Given the description of an element on the screen output the (x, y) to click on. 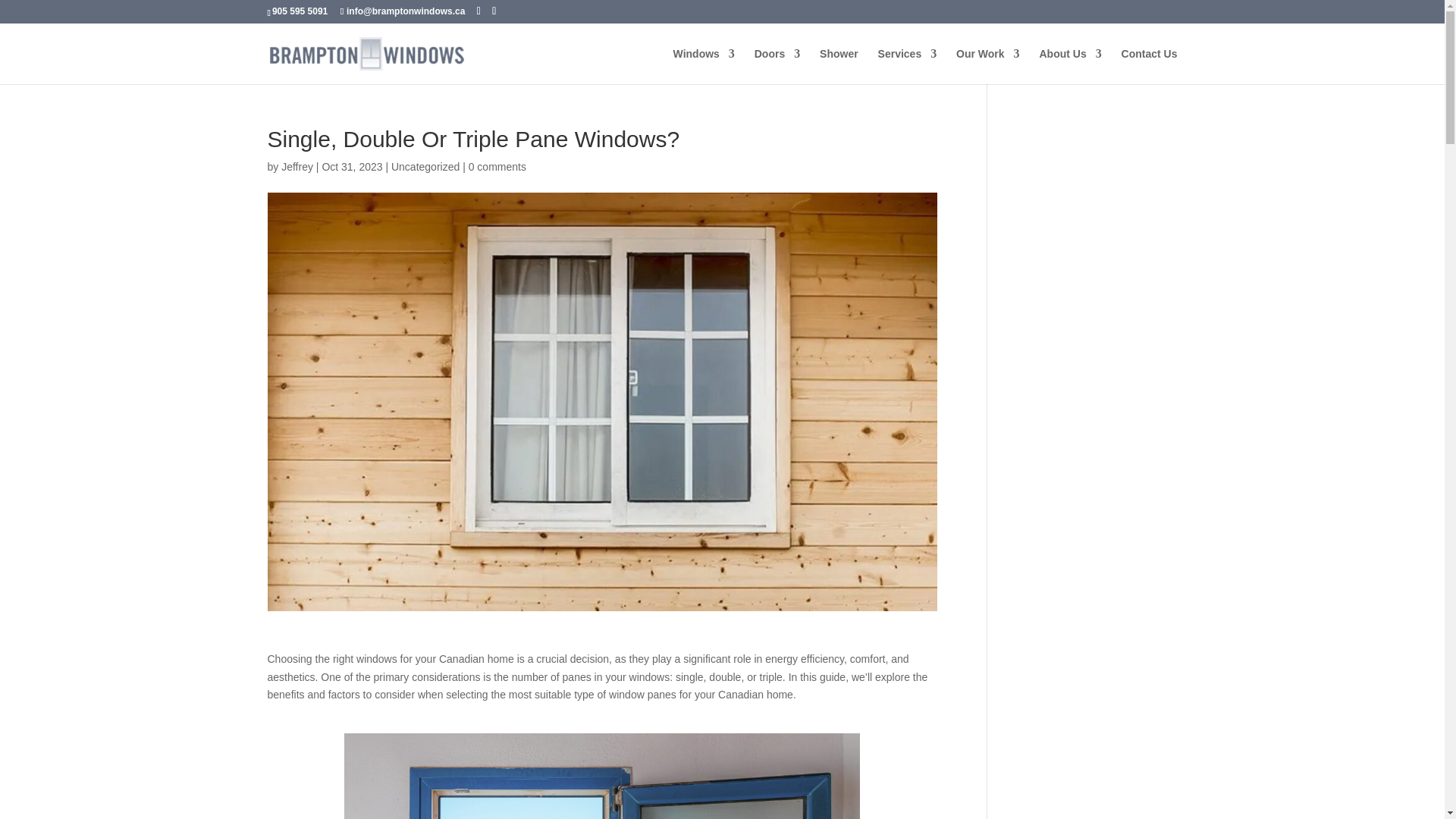
Our Work (988, 66)
Shower (839, 66)
Doors (776, 66)
Services (907, 66)
Posts by Jeffrey (297, 166)
Windows (703, 66)
